Given the description of an element on the screen output the (x, y) to click on. 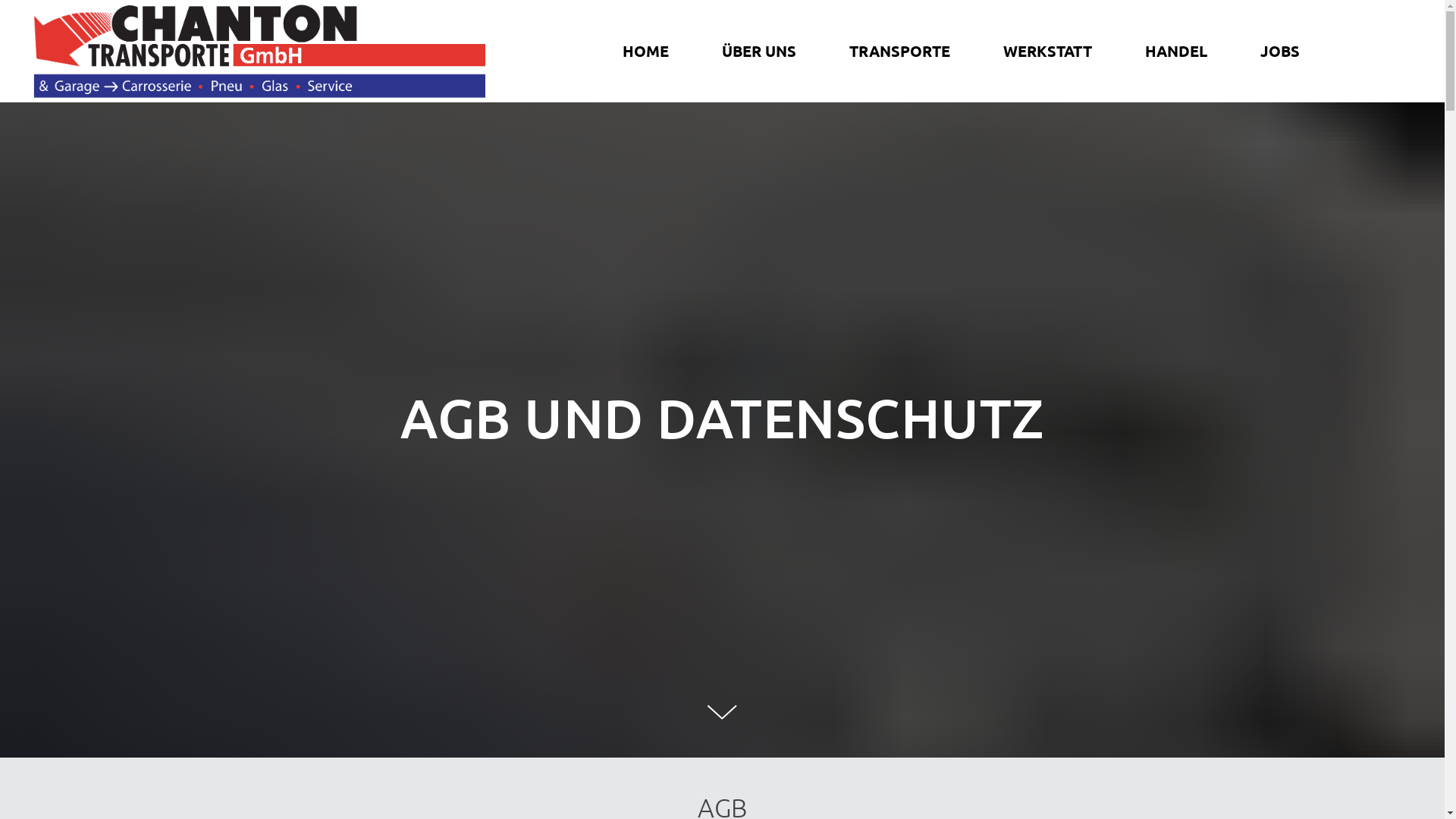
WERKSTATT Element type: text (1047, 50)
JOBS Element type: text (1279, 50)
TRANSPORTE Element type: text (899, 50)
HOME Element type: text (645, 50)
HANDEL Element type: text (1176, 50)
